Given the description of an element on the screen output the (x, y) to click on. 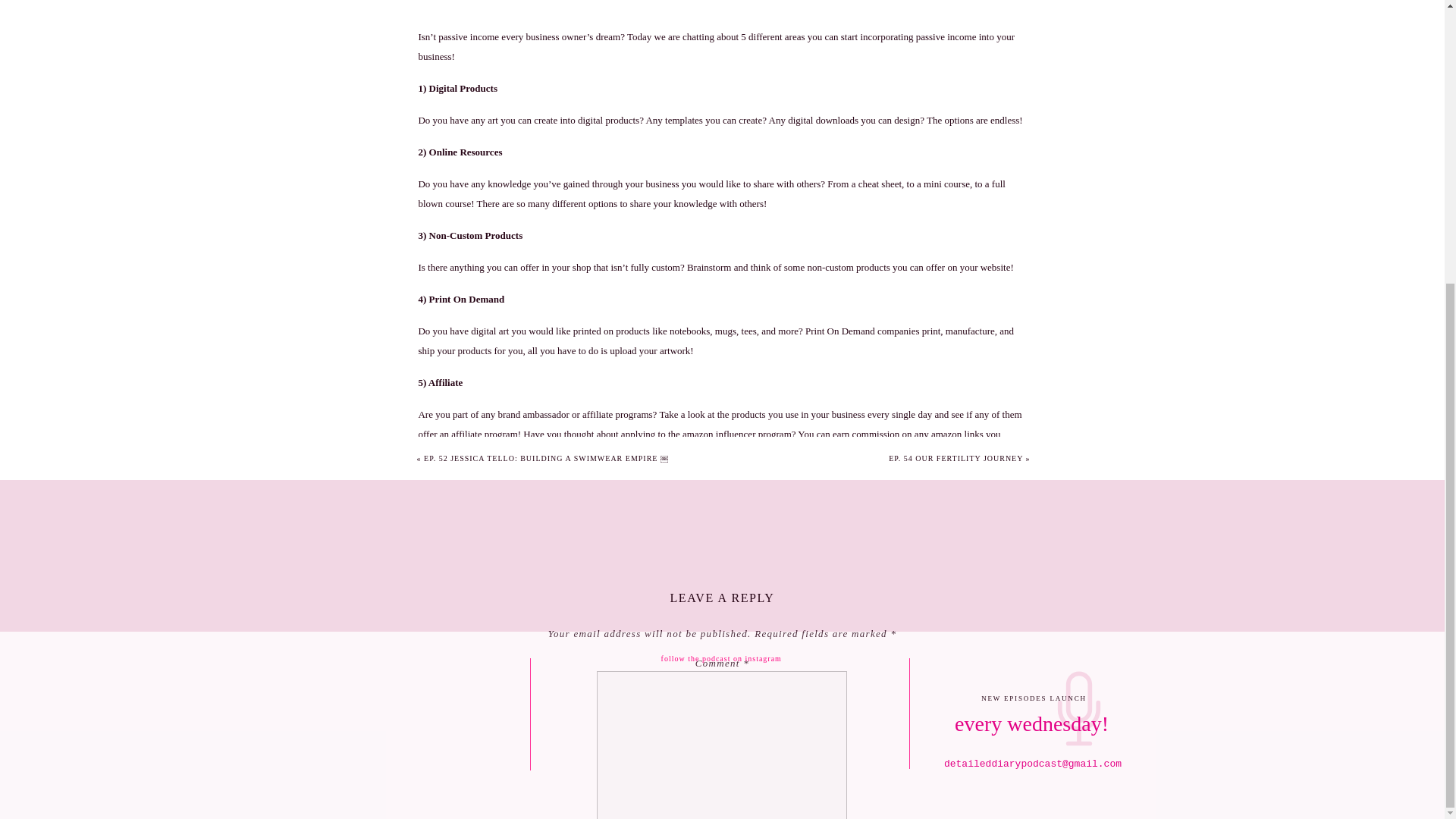
Apply to be an Amazon Influencer! (487, 524)
Shop my Amazon Storefront! (475, 485)
NEW EPISODES LAUNCH (1033, 700)
every wednesday! (1031, 728)
EP. 54 OUR FERTILITY JOURNEY (955, 458)
follow the podcast on instagram  (721, 657)
